Given the description of an element on the screen output the (x, y) to click on. 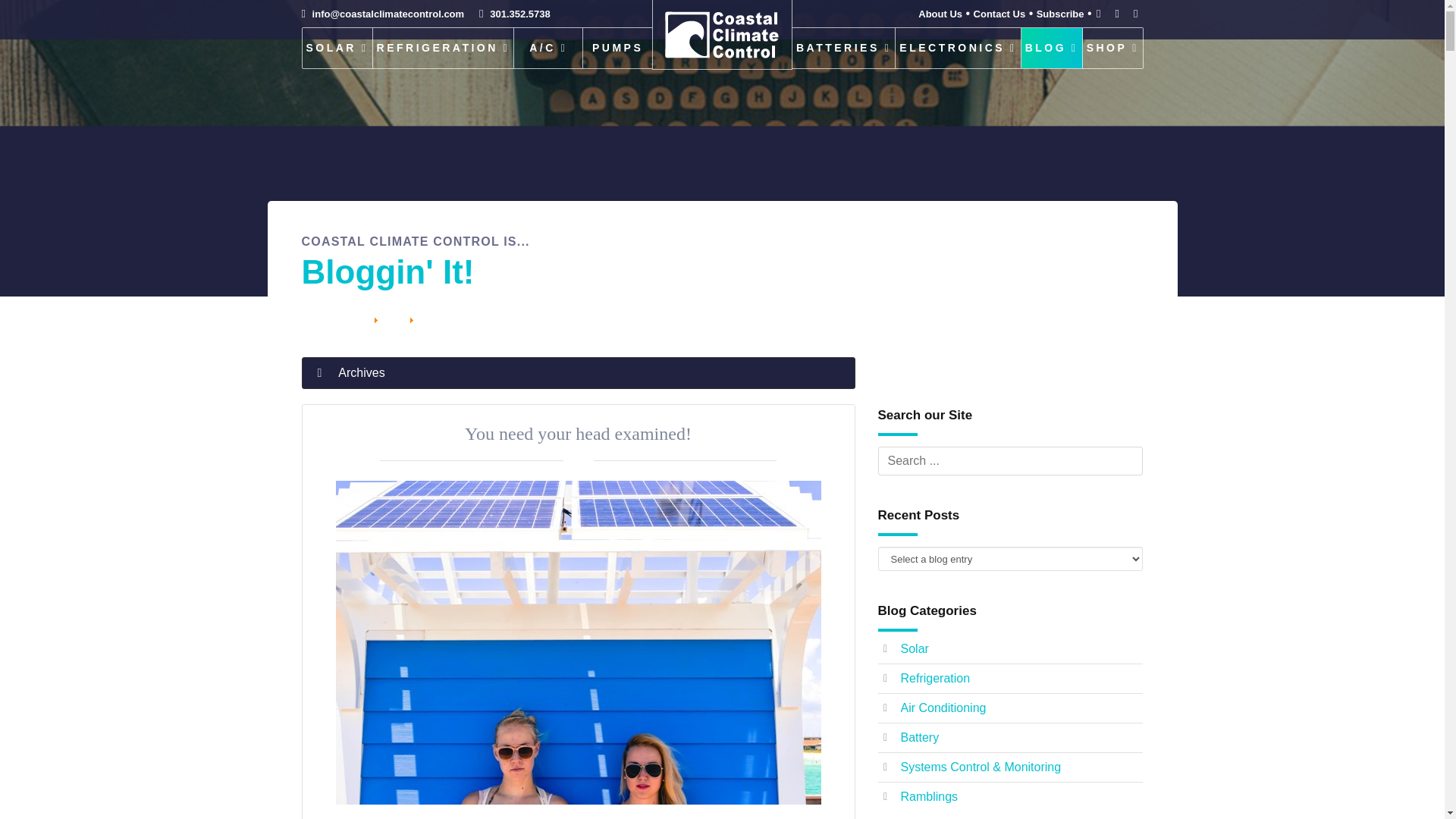
REFRIGERATION (443, 47)
Subscribe (1060, 13)
ELECTRONICS (957, 47)
BLOG (1052, 47)
BATTERIES (843, 47)
About Us (940, 13)
SOLAR (336, 47)
PUMPS (617, 47)
Contact Us (1000, 13)
301.352.5738 (514, 13)
